Given the description of an element on the screen output the (x, y) to click on. 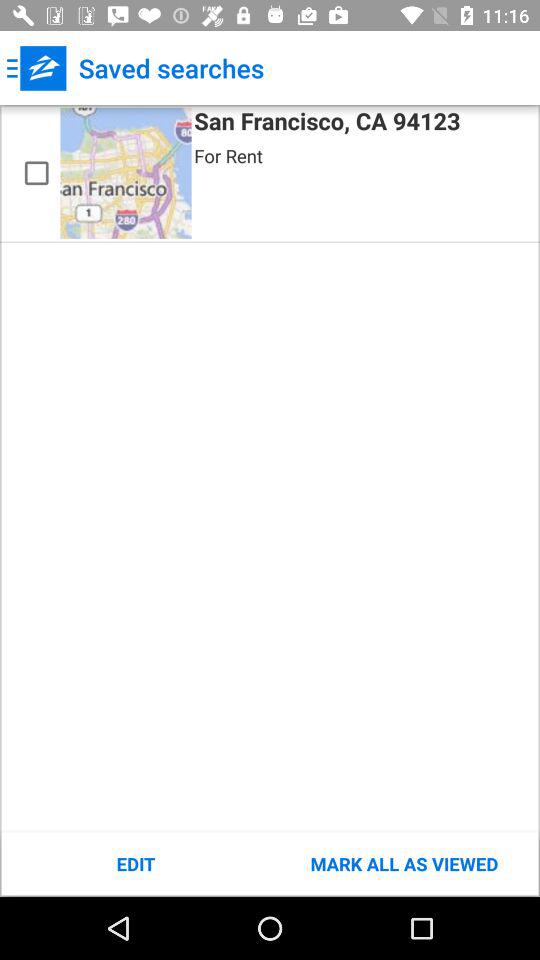
click for rent (228, 155)
